Given the description of an element on the screen output the (x, y) to click on. 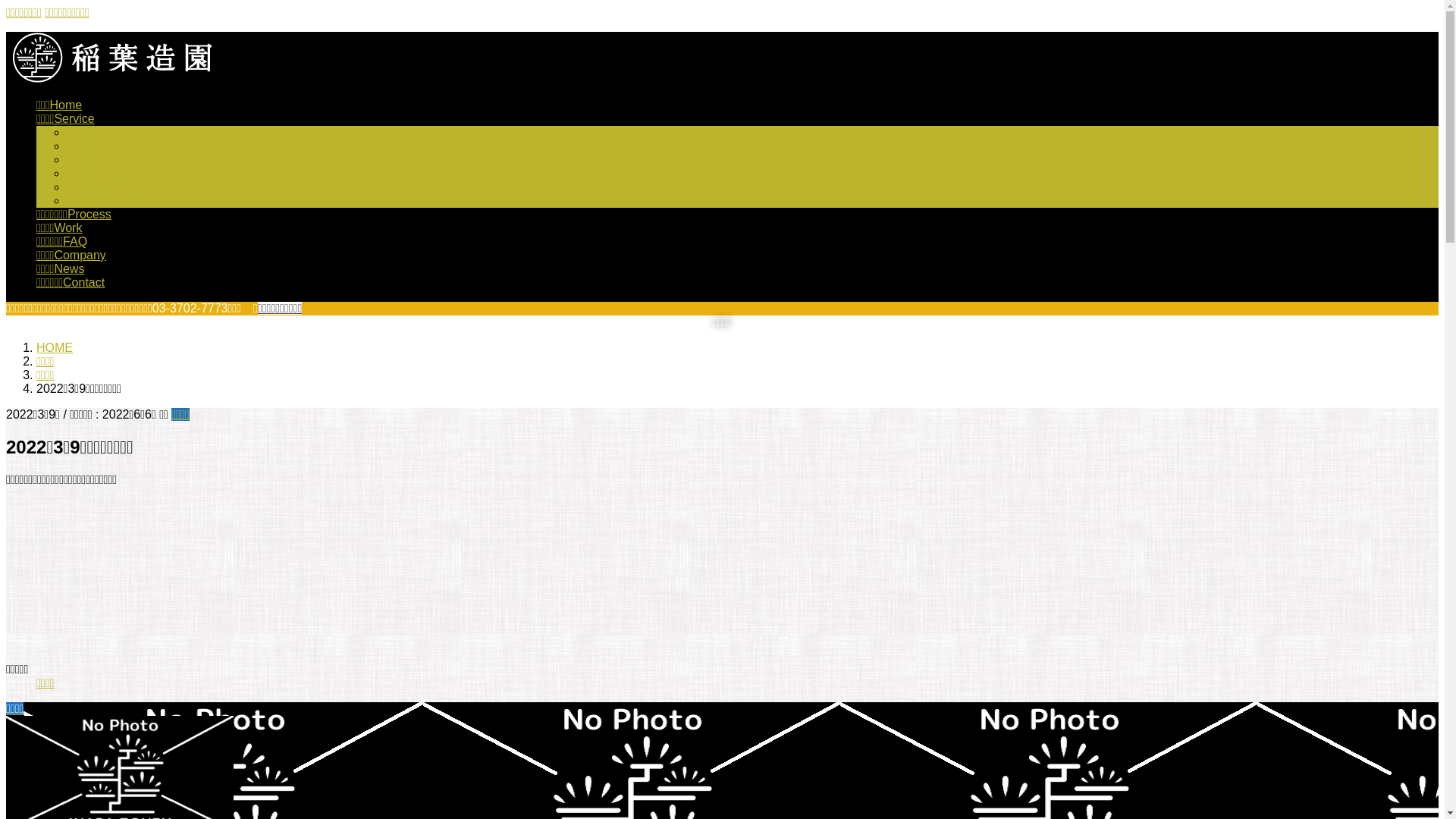
HOME Element type: text (54, 347)
